Given the description of an element on the screen output the (x, y) to click on. 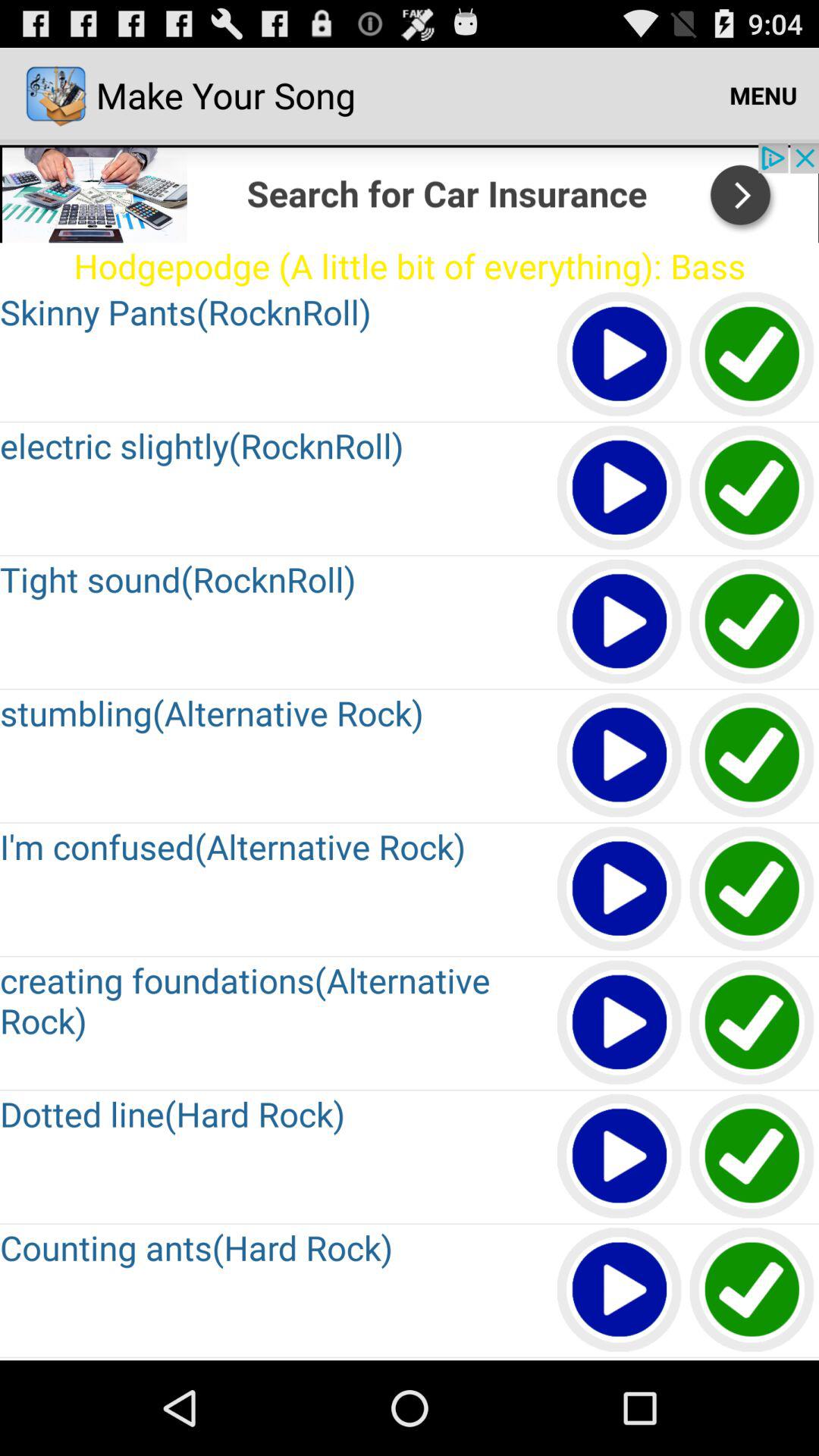
play selected sound (619, 488)
